Given the description of an element on the screen output the (x, y) to click on. 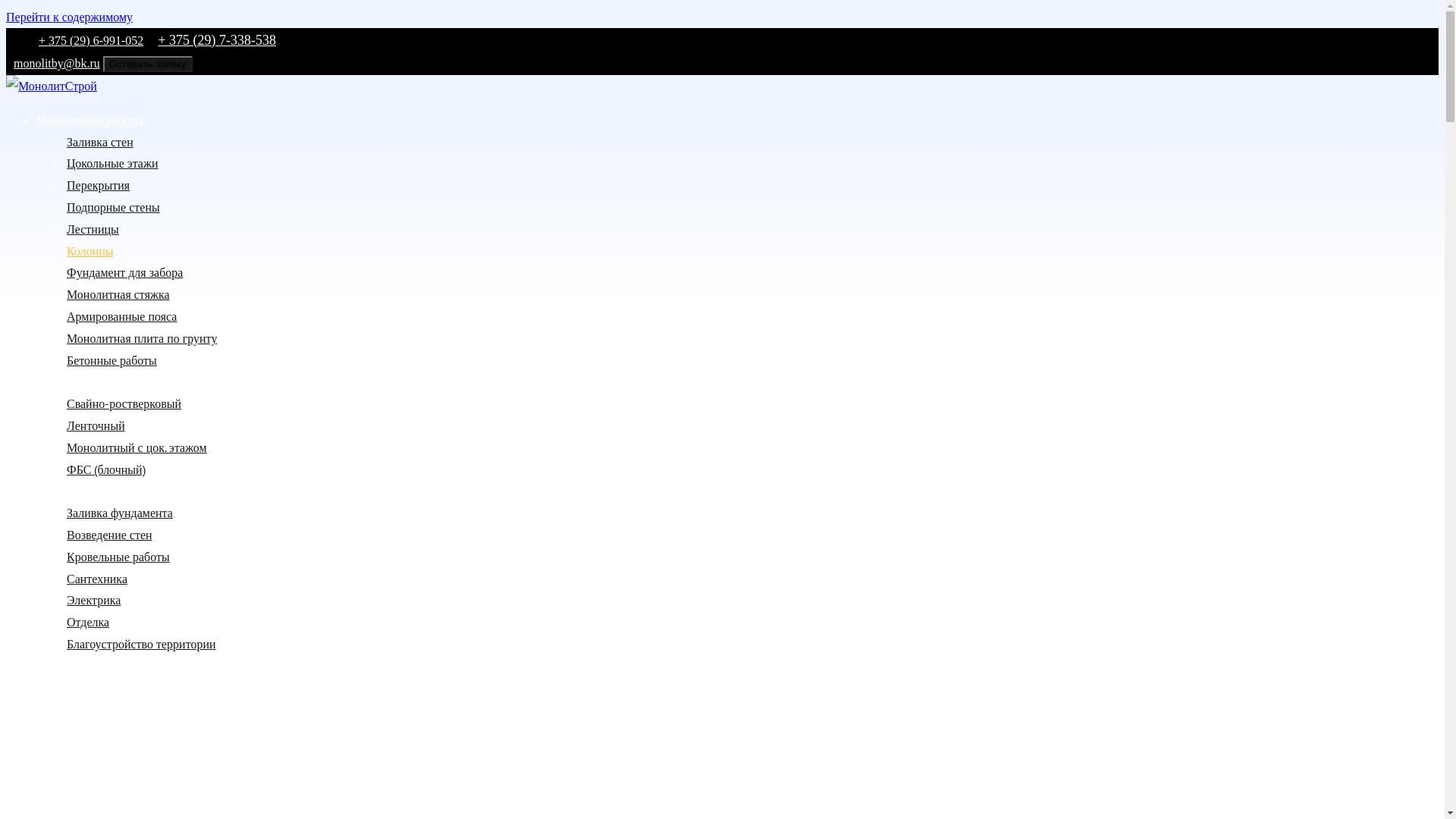
monolitby@bk.ru Element type: text (53, 62)
+ 375 (29) 7-338-538 Element type: text (216, 39)
+ 375 (29) 6-991-052 Element type: text (90, 40)
